Given the description of an element on the screen output the (x, y) to click on. 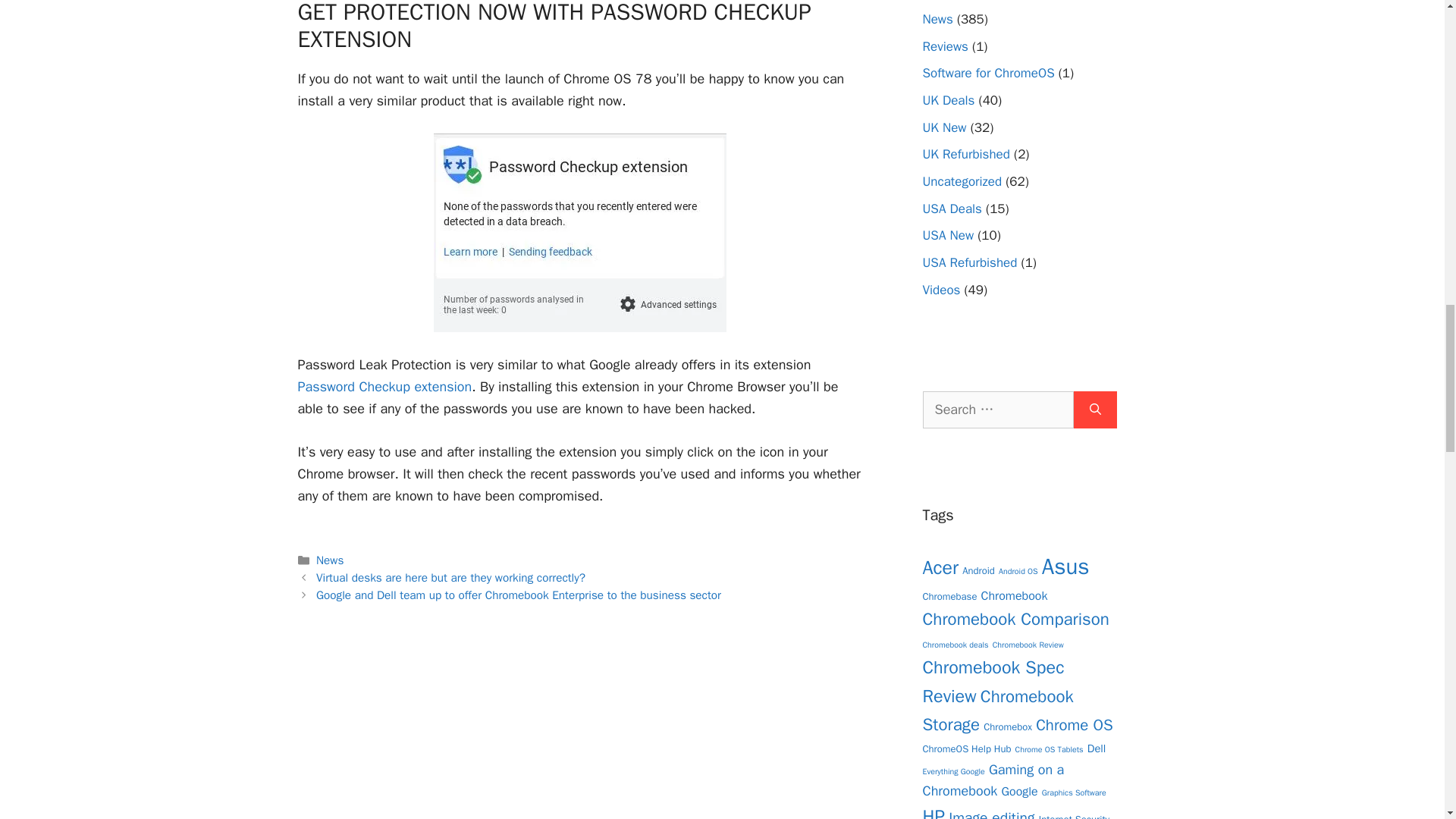
Search for: (997, 409)
Virtual desks are here but are they working correctly? (450, 577)
Password Checkup extension (384, 386)
News (329, 560)
